Given the description of an element on the screen output the (x, y) to click on. 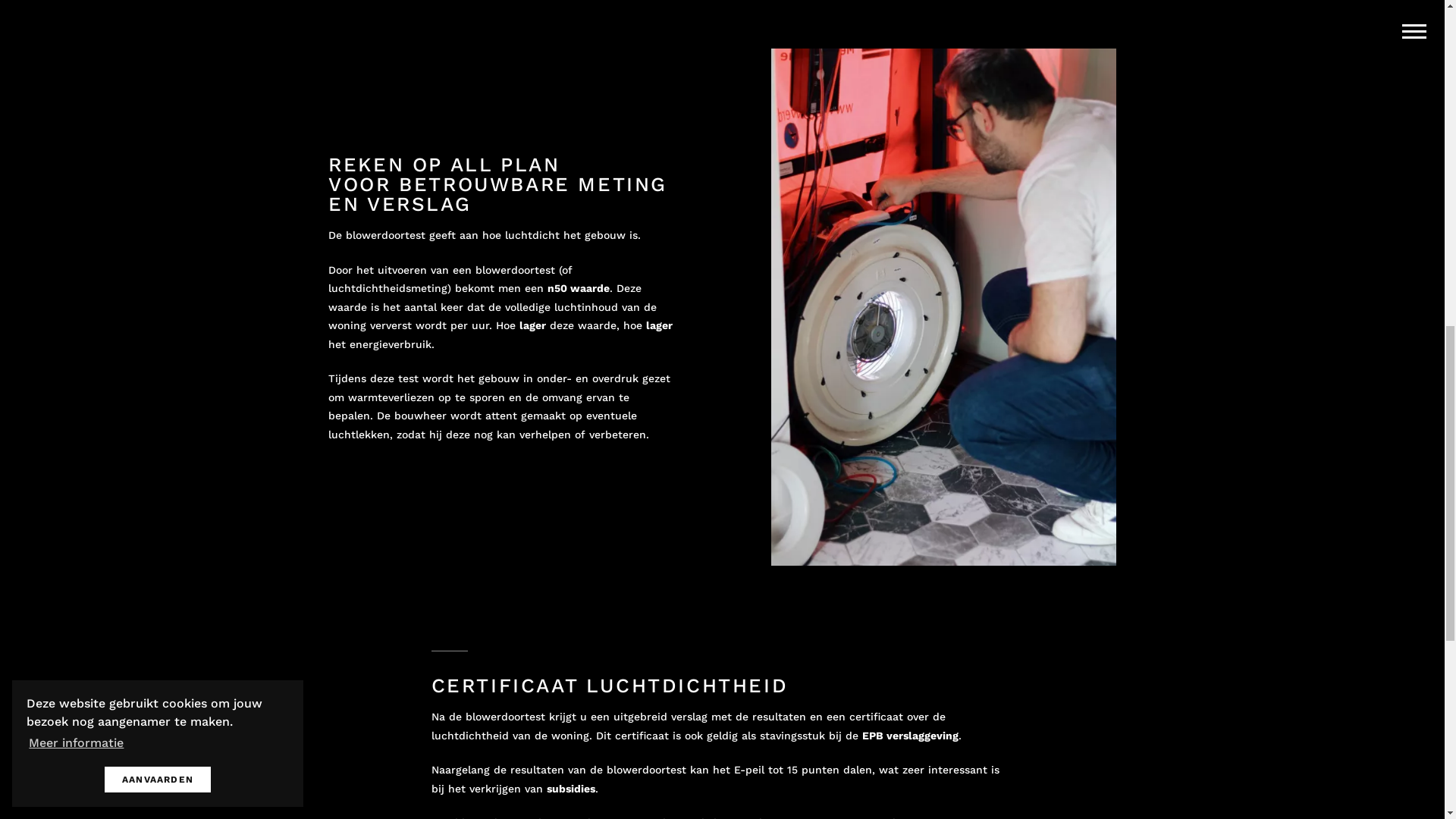
Ga naar content Element type: text (721, 776)
